Given the description of an element on the screen output the (x, y) to click on. 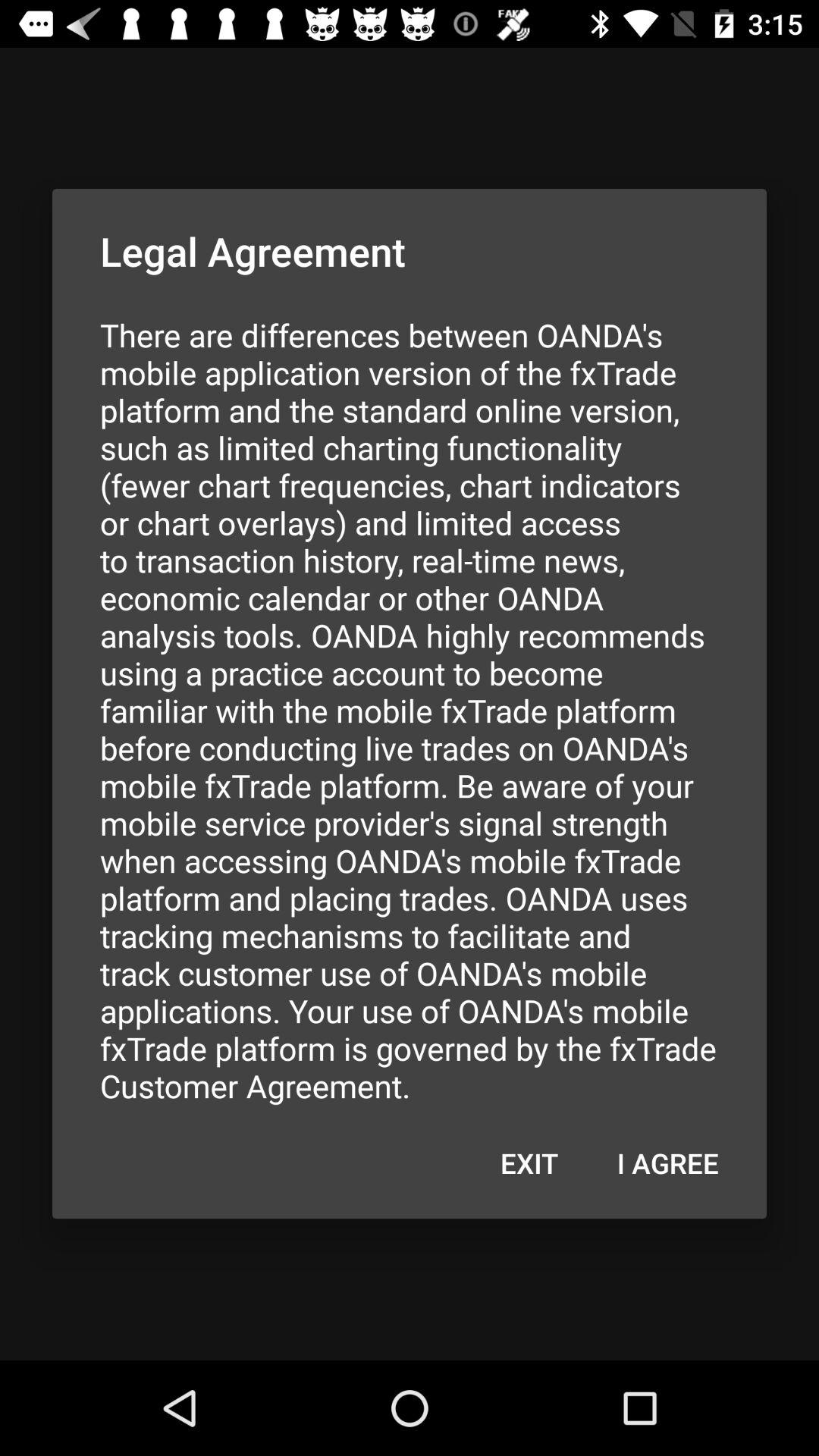
open the i agree (667, 1162)
